Given the description of an element on the screen output the (x, y) to click on. 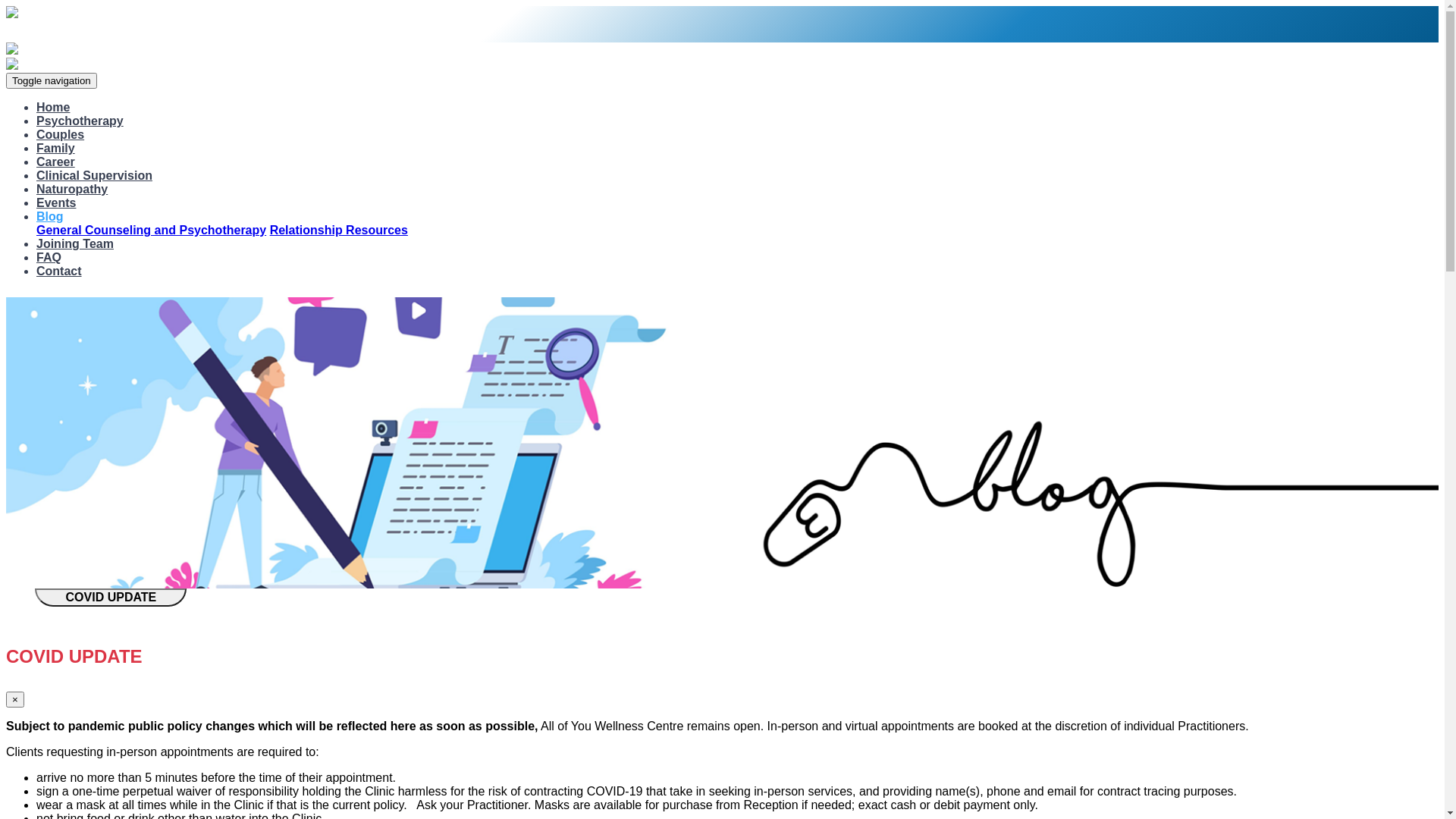
Psychotherapy Element type: text (79, 120)
Career Element type: text (55, 161)
Couples Element type: text (60, 134)
Family Element type: text (55, 147)
Toggle navigation Element type: text (51, 80)
Events Element type: text (55, 202)
General Counseling and Psychotherapy Element type: text (151, 229)
COVID UPDATE Element type: text (110, 597)
Contact Element type: text (58, 270)
Joining Team Element type: text (74, 243)
FAQ Element type: text (48, 257)
Skip to main content Element type: text (6, 6)
Naturopathy Element type: text (71, 188)
Blog Element type: text (49, 216)
Home Element type: text (52, 106)
Relationship Resources Element type: text (338, 229)
Clinical Supervision Element type: text (94, 175)
